Given the description of an element on the screen output the (x, y) to click on. 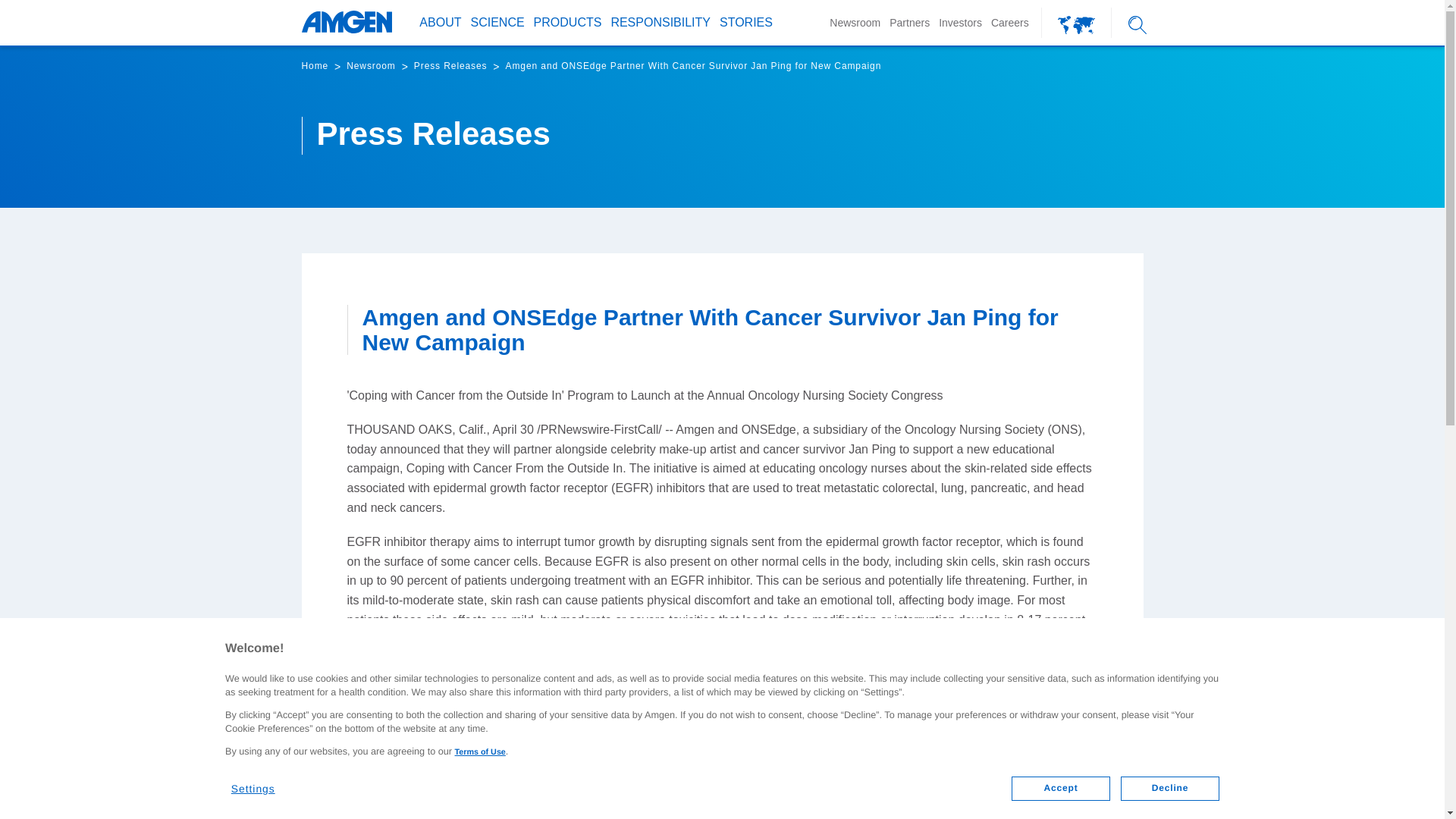
Settings (262, 782)
Accept (1060, 788)
Decline (1170, 788)
Terms of Use (479, 751)
